Given the description of an element on the screen output the (x, y) to click on. 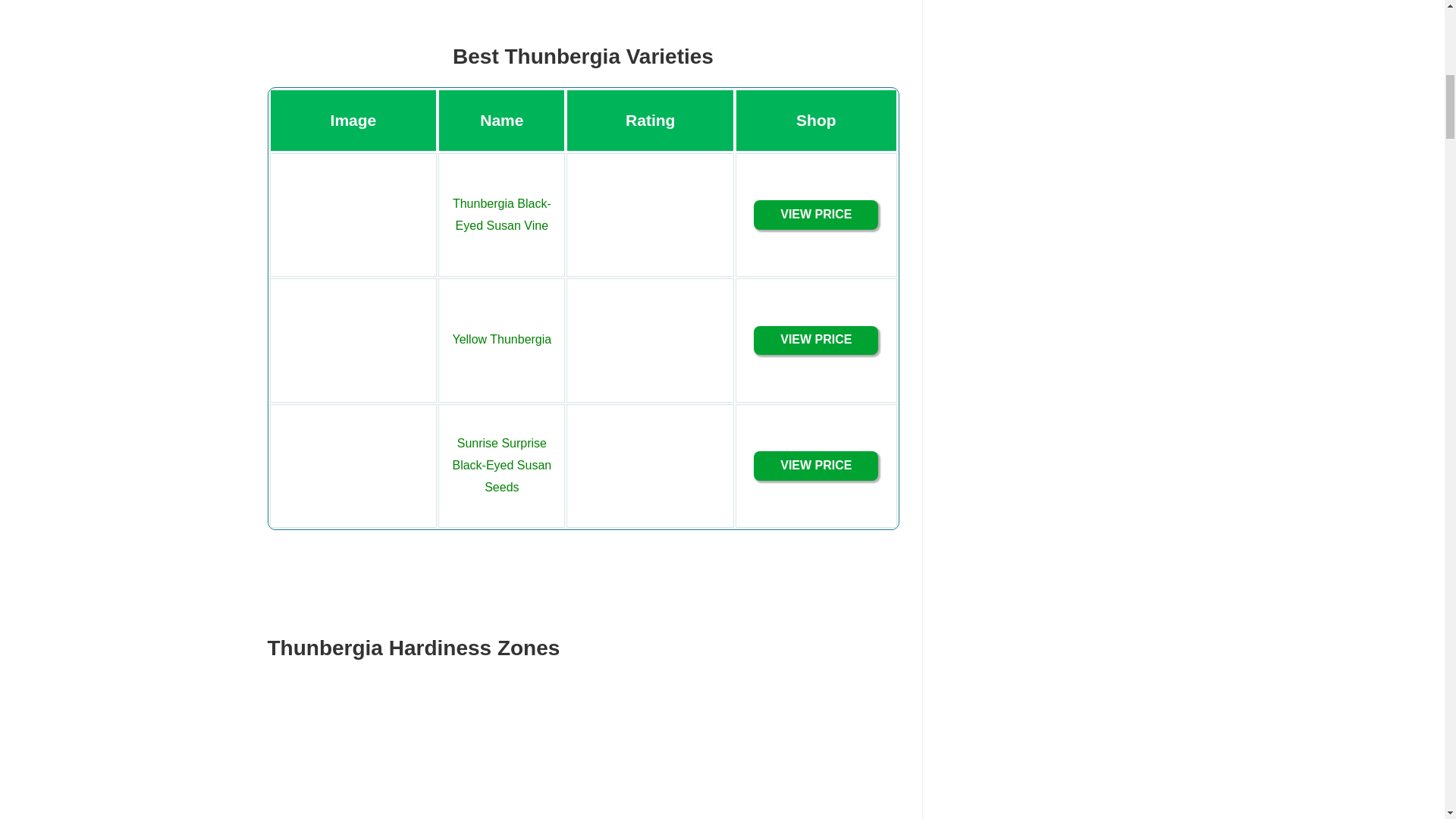
Thunbergia Black-Eyed Susan Vine (501, 214)
Sunrise Surprise Black-Eyed Susan Seeds (501, 464)
VIEW PRICE (816, 465)
VIEW PRICE (816, 214)
VIEW PRICE (816, 340)
Yellow Thunbergia (501, 338)
